Given the description of an element on the screen output the (x, y) to click on. 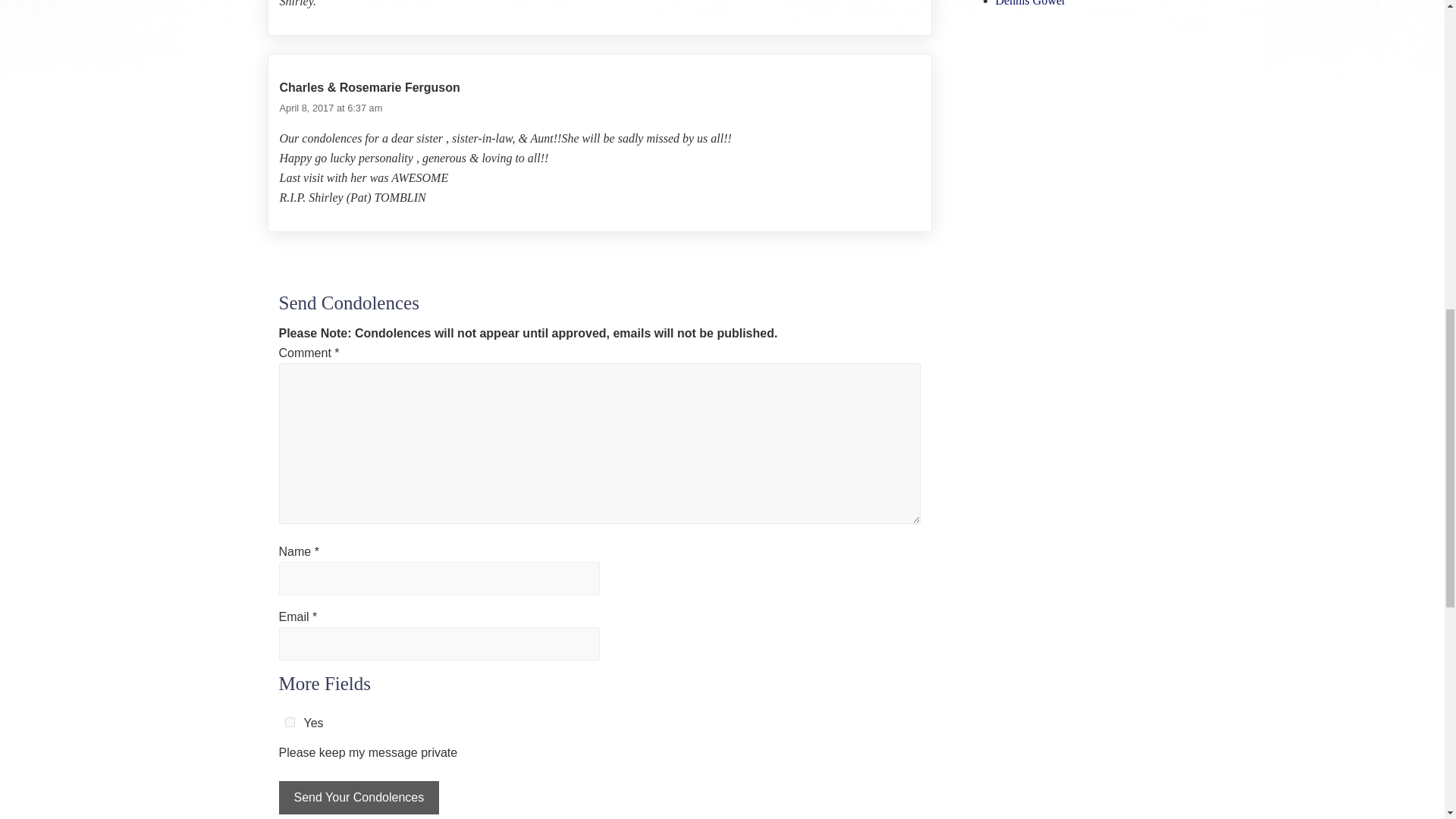
Dennis Gower (1029, 3)
Send Your Condolences (359, 797)
April 8, 2017 at 6:37 am (330, 107)
1 (290, 722)
Send Your Condolences (359, 797)
